Given the description of an element on the screen output the (x, y) to click on. 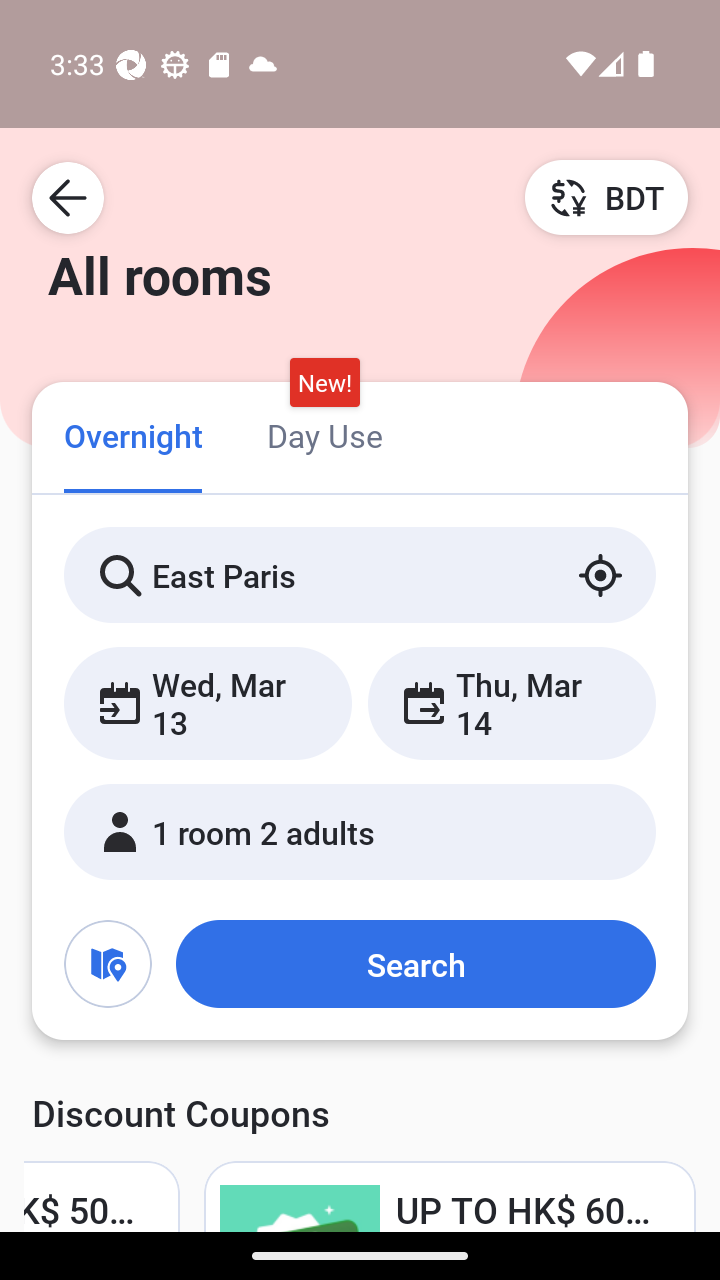
BDT (606, 197)
New! (324, 383)
Day Use (324, 434)
East Paris (359, 575)
Wed, Mar 13 (208, 703)
Thu, Mar 14 (511, 703)
1 room 2 adults (359, 831)
Search (415, 964)
